Given the description of an element on the screen output the (x, y) to click on. 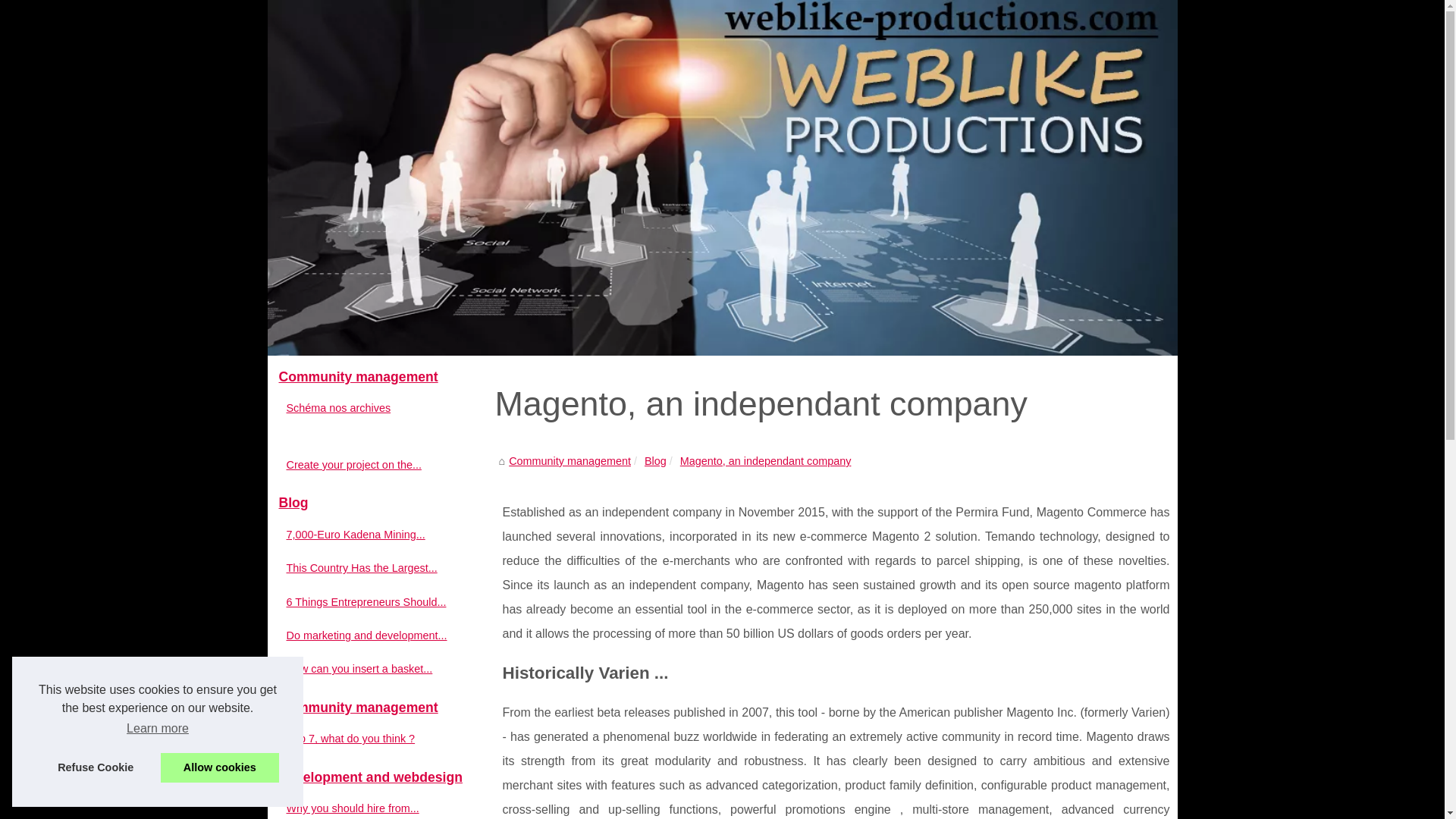
Blog (380, 502)
Community management (380, 377)
Community management (380, 707)
Community management (569, 460)
Allow cookies (219, 767)
Why you should hire from... (373, 808)
Blog (655, 460)
Blog (655, 460)
Create your project on the web with us ! (373, 464)
Community management (569, 460)
